Given the description of an element on the screen output the (x, y) to click on. 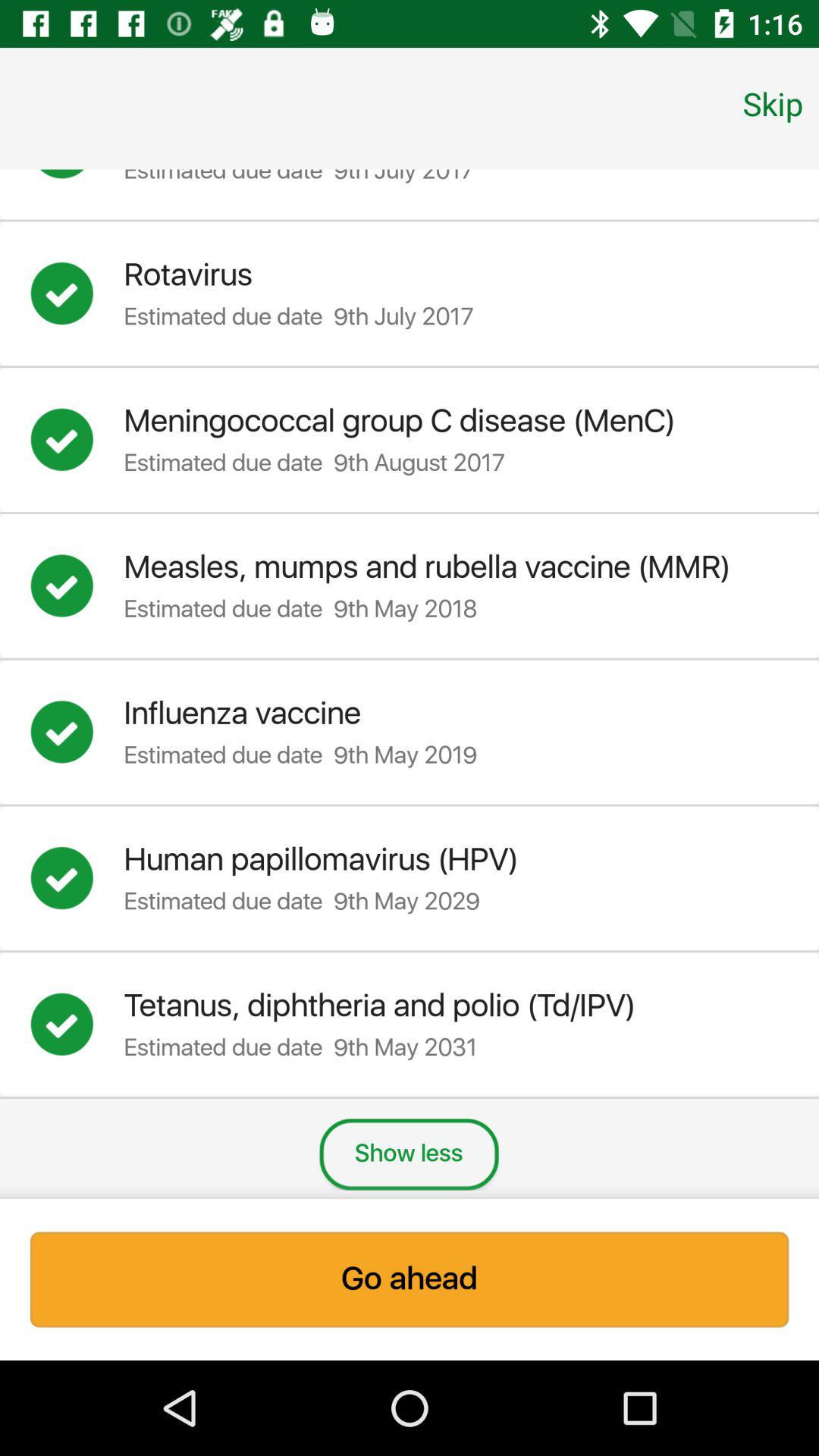
scroll to show less (408, 1154)
